Given the description of an element on the screen output the (x, y) to click on. 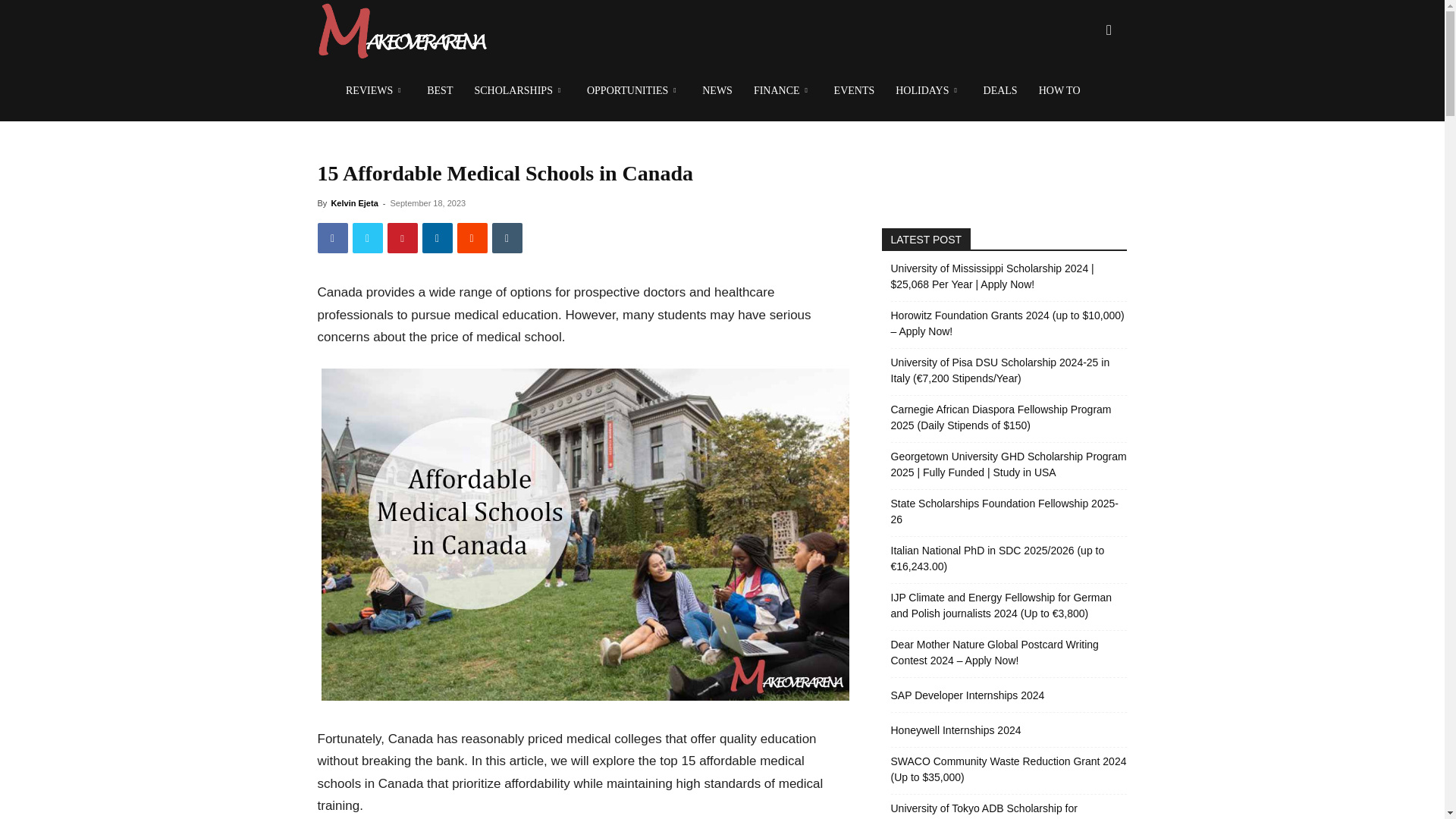
Pinterest (401, 237)
Linkedin (436, 237)
ReddIt (471, 237)
Facebook (332, 237)
Twitter (366, 237)
Tumblr (506, 237)
